Given the description of an element on the screen output the (x, y) to click on. 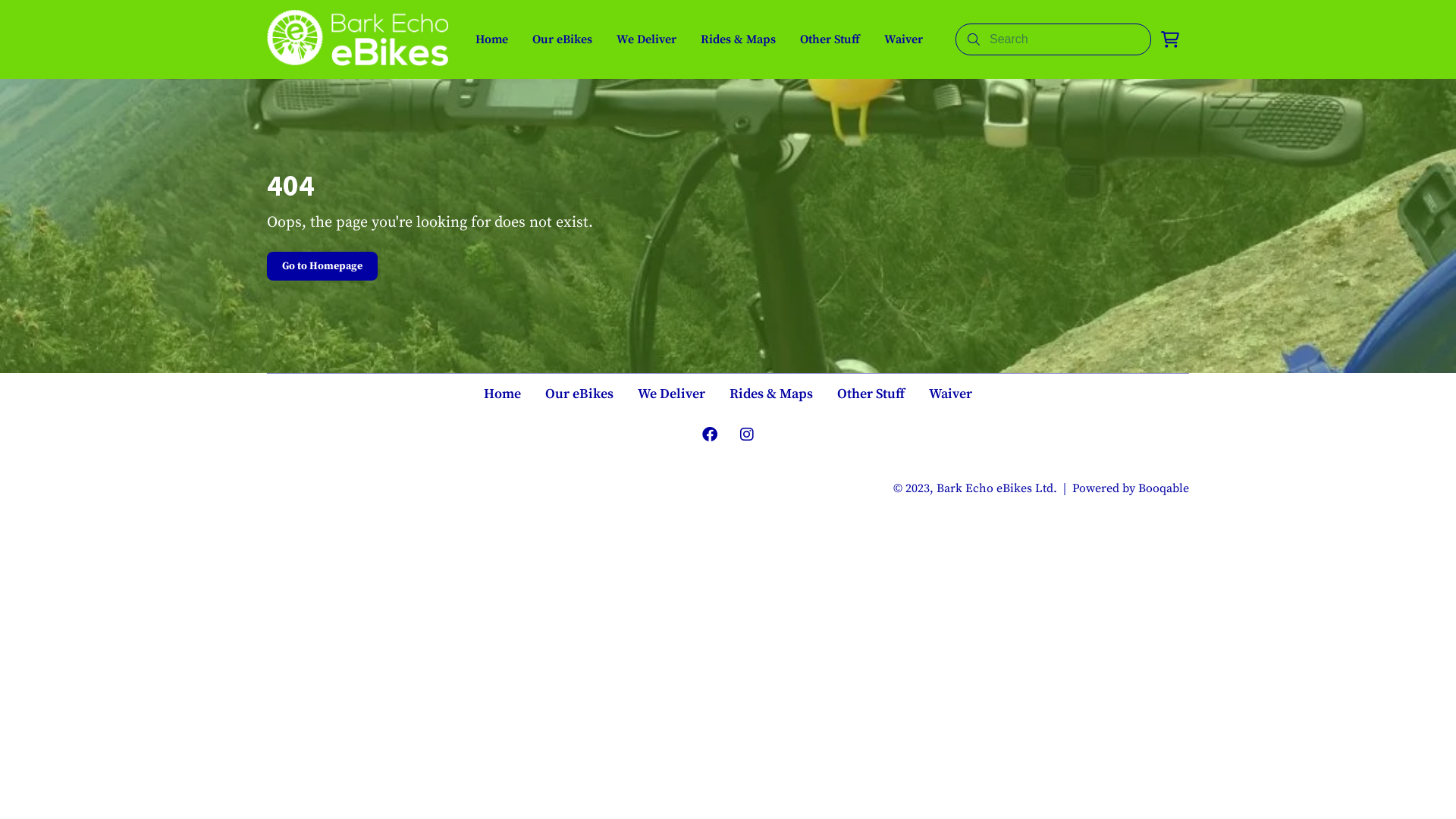
We Deliver Element type: text (646, 39)
Waiver Element type: text (903, 39)
We Deliver Element type: text (671, 394)
Our eBikes Element type: text (562, 39)
Rides & Maps Element type: text (737, 39)
Our eBikes Element type: text (579, 394)
Waiver Element type: text (950, 394)
Other Stuff Element type: text (829, 39)
Powered by Booqable Element type: text (1130, 487)
Go to Homepage Element type: text (321, 265)
Home Element type: text (501, 394)
Home Element type: text (491, 39)
Other Stuff Element type: text (870, 394)
Rides & Maps Element type: text (770, 394)
